Given the description of an element on the screen output the (x, y) to click on. 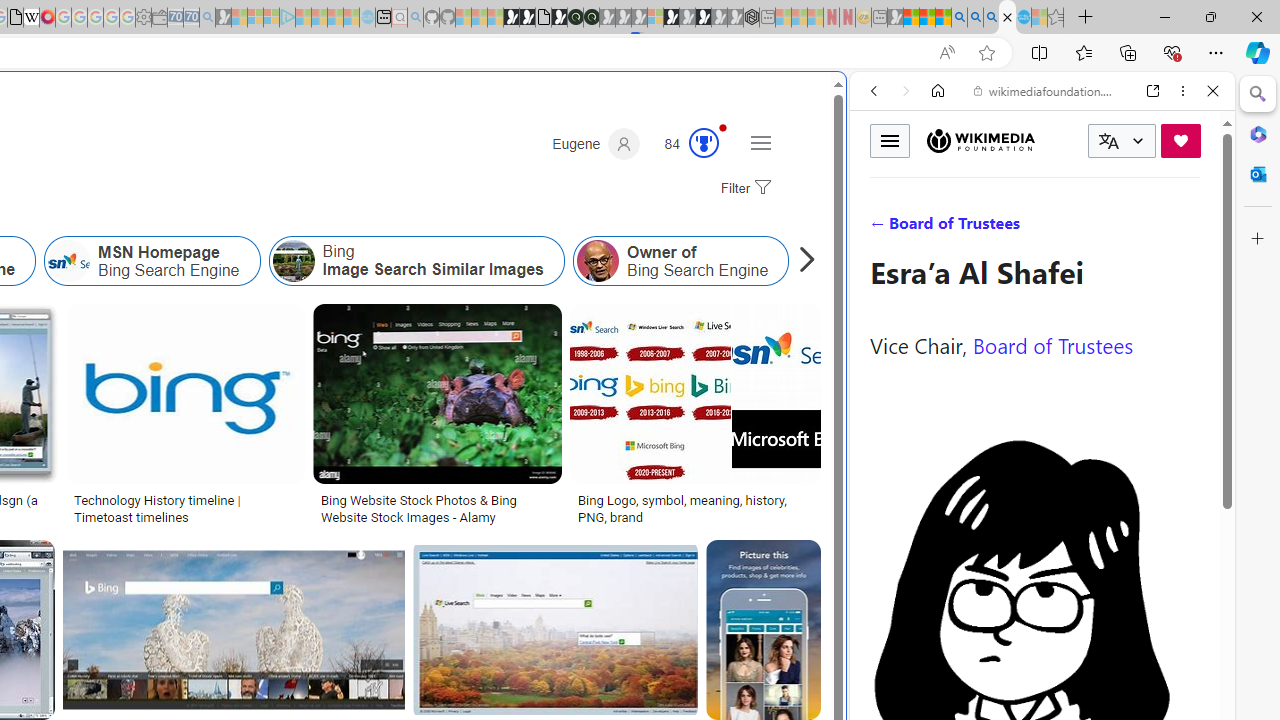
Bing Real Estate - Home sales and rental listings - Sleeping (207, 17)
Search Filter, IMAGES (939, 228)
Preferences (1189, 228)
SEARCH TOOLS (1093, 228)
Microsoft Start Gaming - Sleeping (223, 17)
Wiktionary (1034, 669)
Eugene (596, 143)
2009 Bing officially replaced Live Search on June 3 - Search (975, 17)
Microsoft Rewards 84 (685, 143)
